Given the description of an element on the screen output the (x, y) to click on. 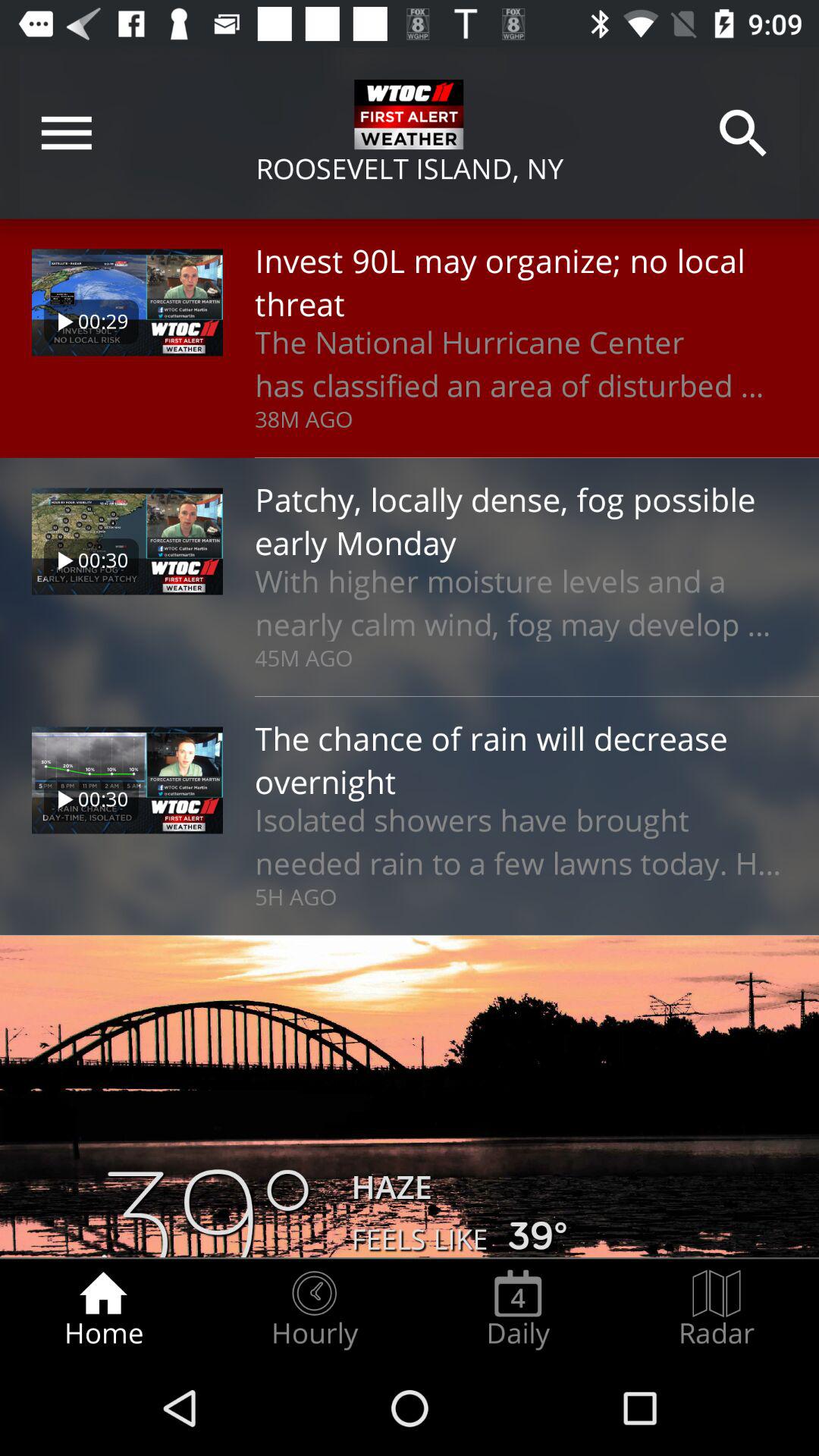
select the item to the left of the hourly (103, 1309)
